Given the description of an element on the screen output the (x, y) to click on. 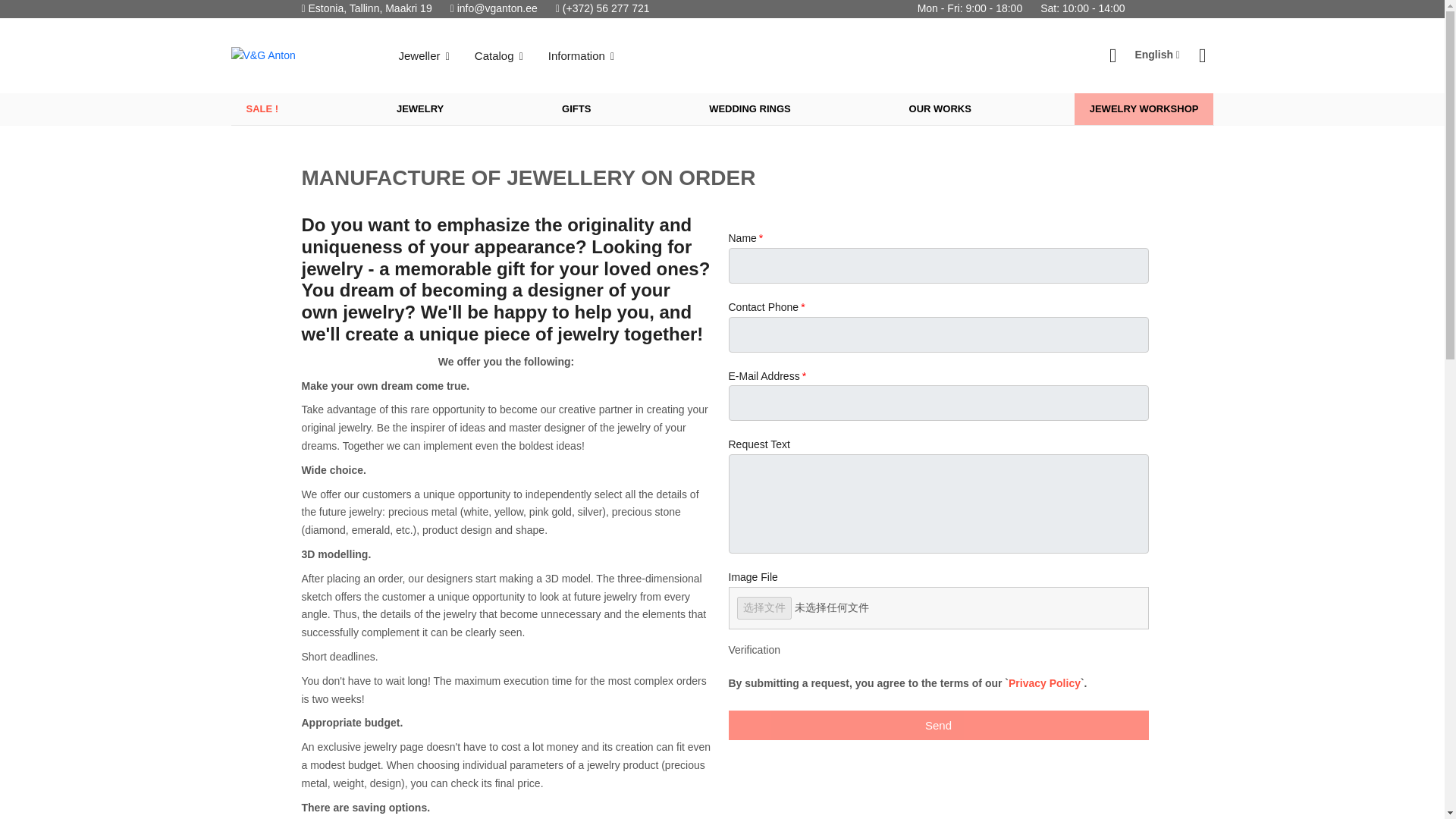
Information (582, 56)
Catalog (500, 56)
